Given the description of an element on the screen output the (x, y) to click on. 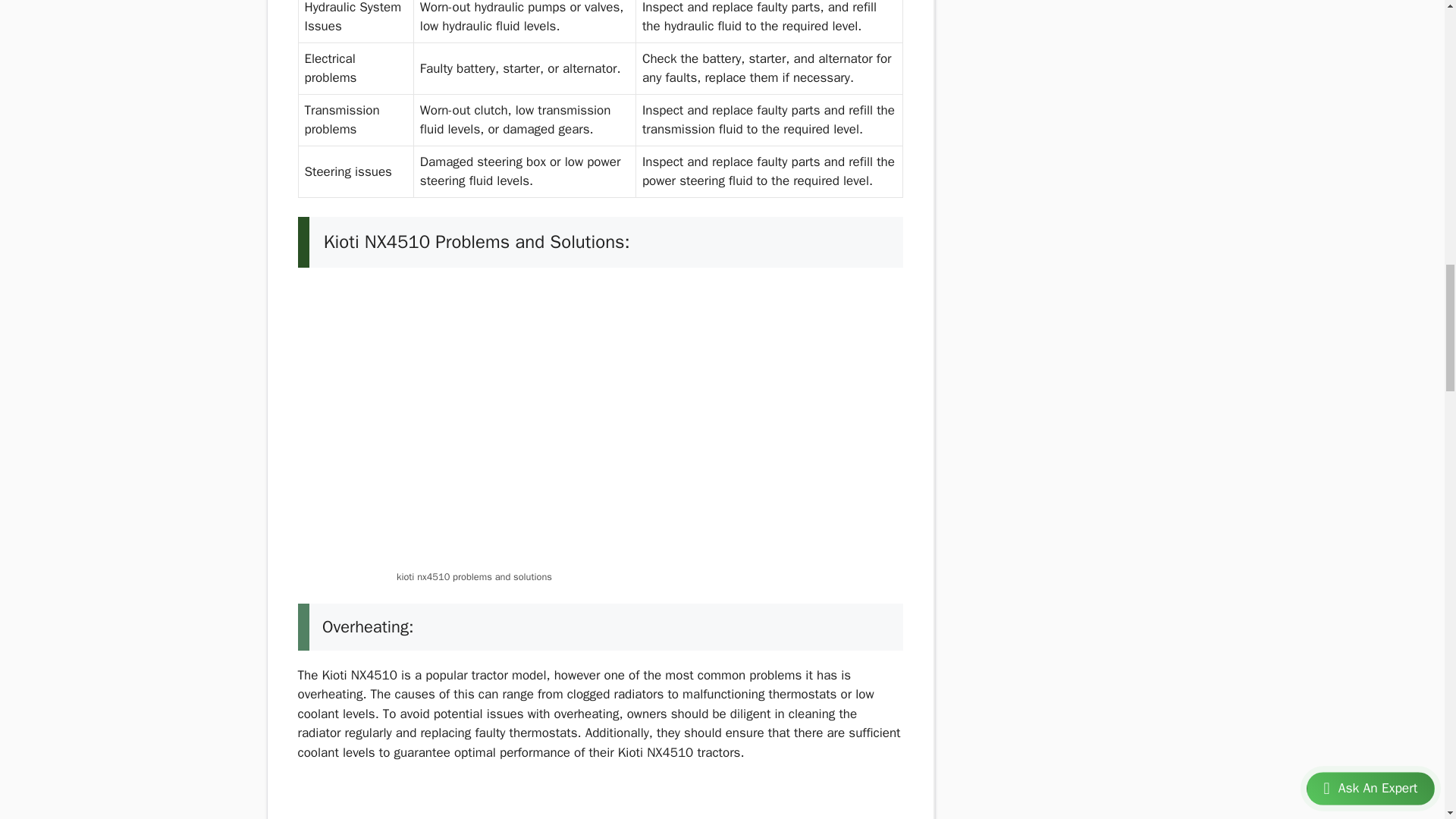
kioti nx4510 problems 3 (599, 423)
